Given the description of an element on the screen output the (x, y) to click on. 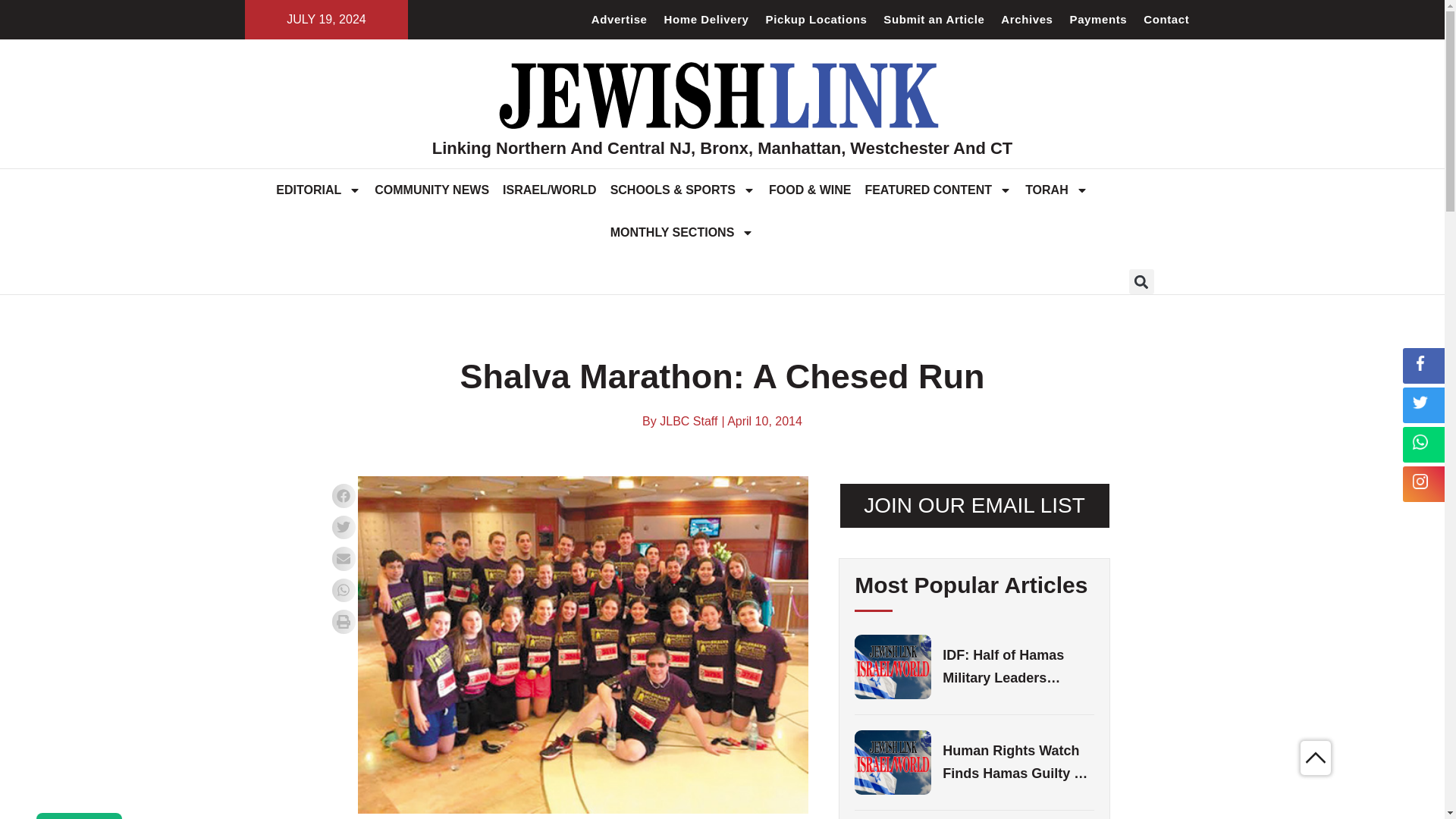
Payments (1098, 19)
Home Delivery (706, 19)
Advertise (619, 19)
Contact (1165, 19)
Pickup Locations (816, 19)
Submit an Article (933, 19)
Archives (1026, 19)
